Given the description of an element on the screen output the (x, y) to click on. 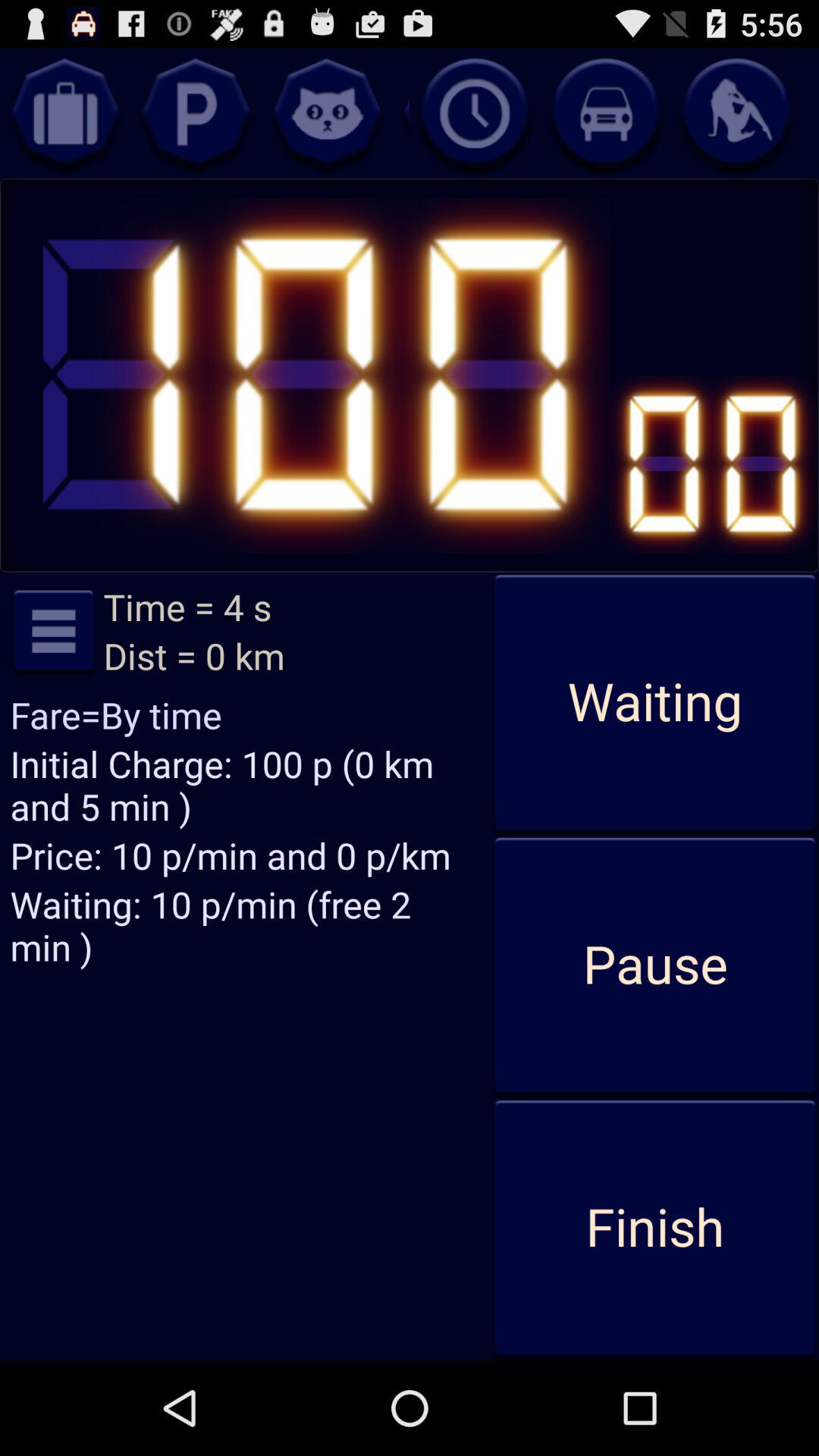
go back button option (326, 112)
